Given the description of an element on the screen output the (x, y) to click on. 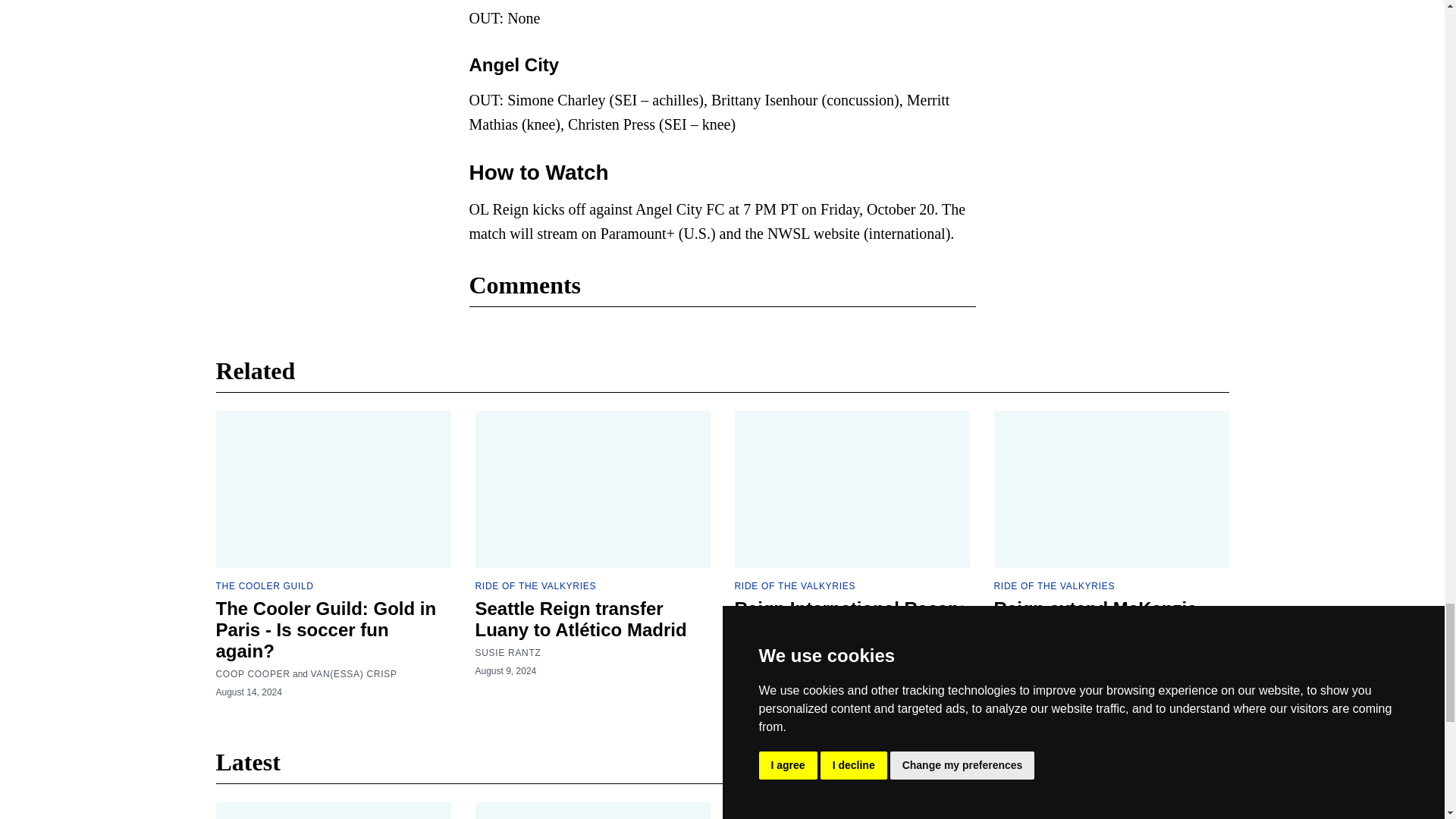
SUSIE RANTZ (507, 653)
THE COOLER GUILD (264, 585)
RIDE OF THE VALKYRIES (534, 585)
COOP COOPER (252, 674)
The Cooler Guild: Gold in Paris - Is soccer fun again? (325, 629)
